Given the description of an element on the screen output the (x, y) to click on. 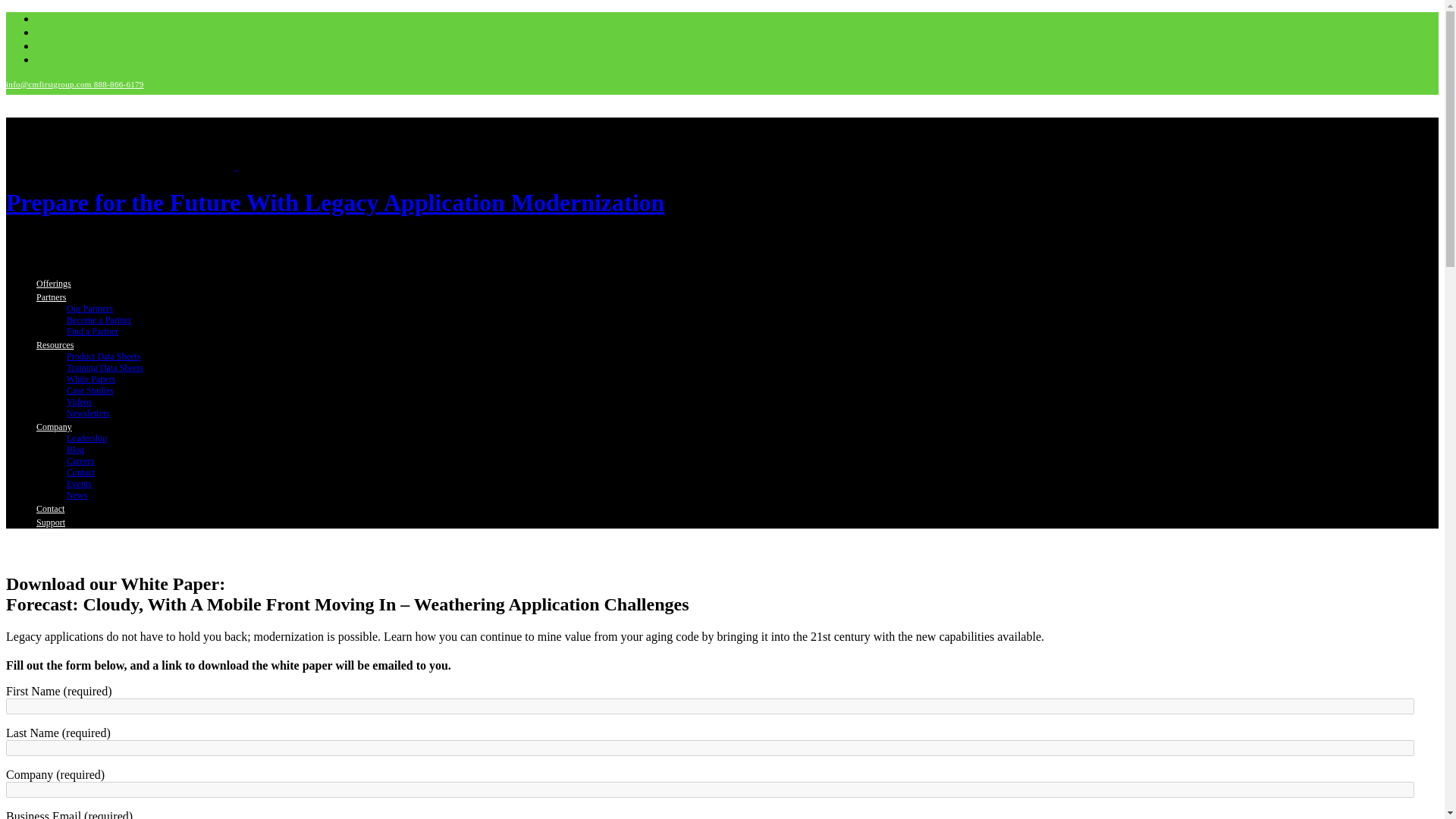
Partners (50, 296)
Become a Partner (98, 319)
888-866-6179 (119, 83)
Training Data Sheets (104, 367)
Offerings (53, 283)
Case Studies (89, 389)
Product Data Sheets (102, 356)
Find a Partner (91, 330)
Resources (55, 344)
Our Partners (89, 308)
